Given the description of an element on the screen output the (x, y) to click on. 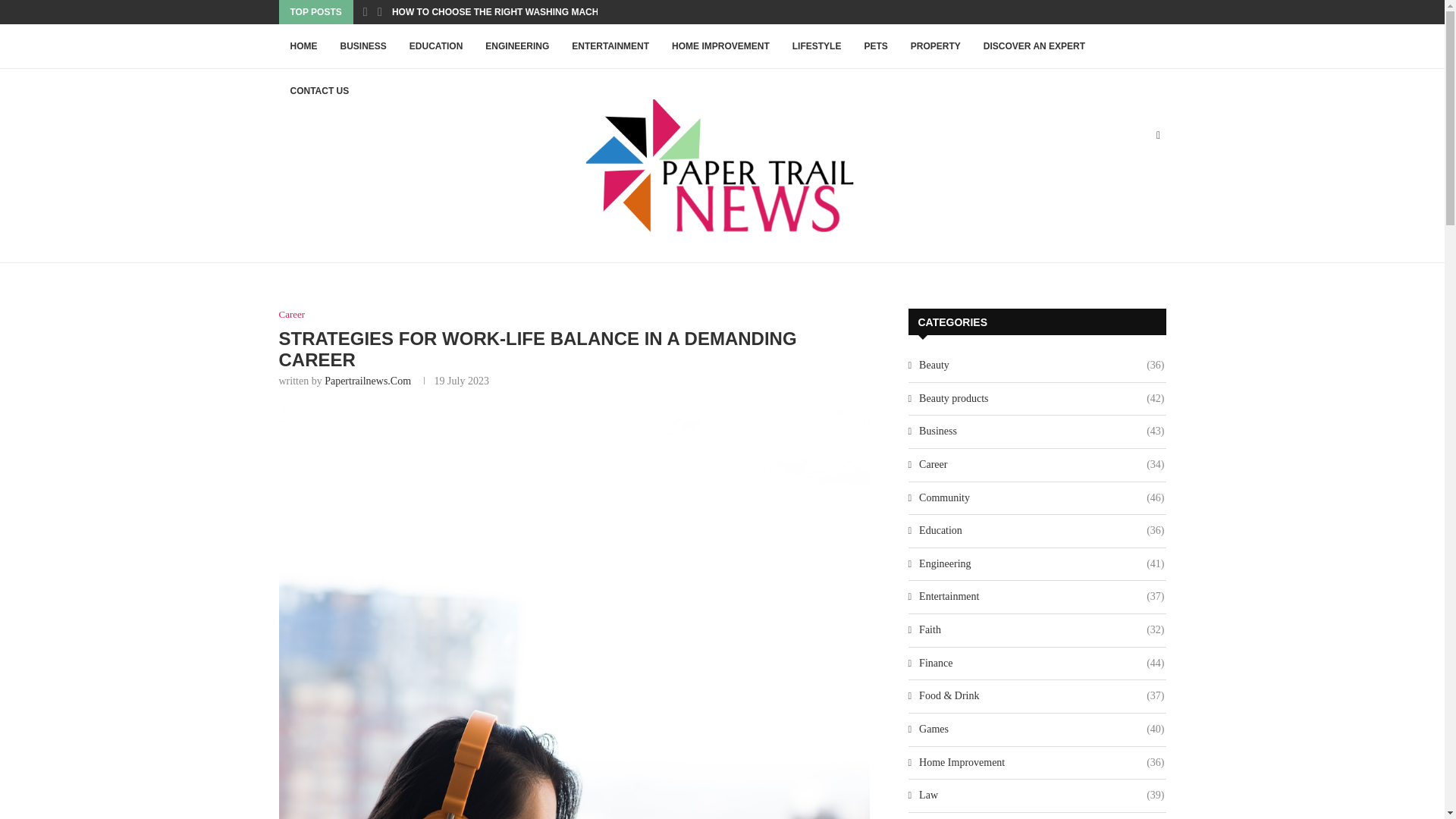
PETS (874, 46)
BUSINESS (363, 46)
HOME IMPROVEMENT (720, 46)
HOW TO CHOOSE THE RIGHT WASHING MACHINE FOR... (517, 12)
ENTERTAINMENT (610, 46)
ENGINEERING (517, 46)
Career (292, 314)
DISCOVER AN EXPERT (1034, 46)
EDUCATION (435, 46)
Papertrailnews.Com (367, 380)
